Given the description of an element on the screen output the (x, y) to click on. 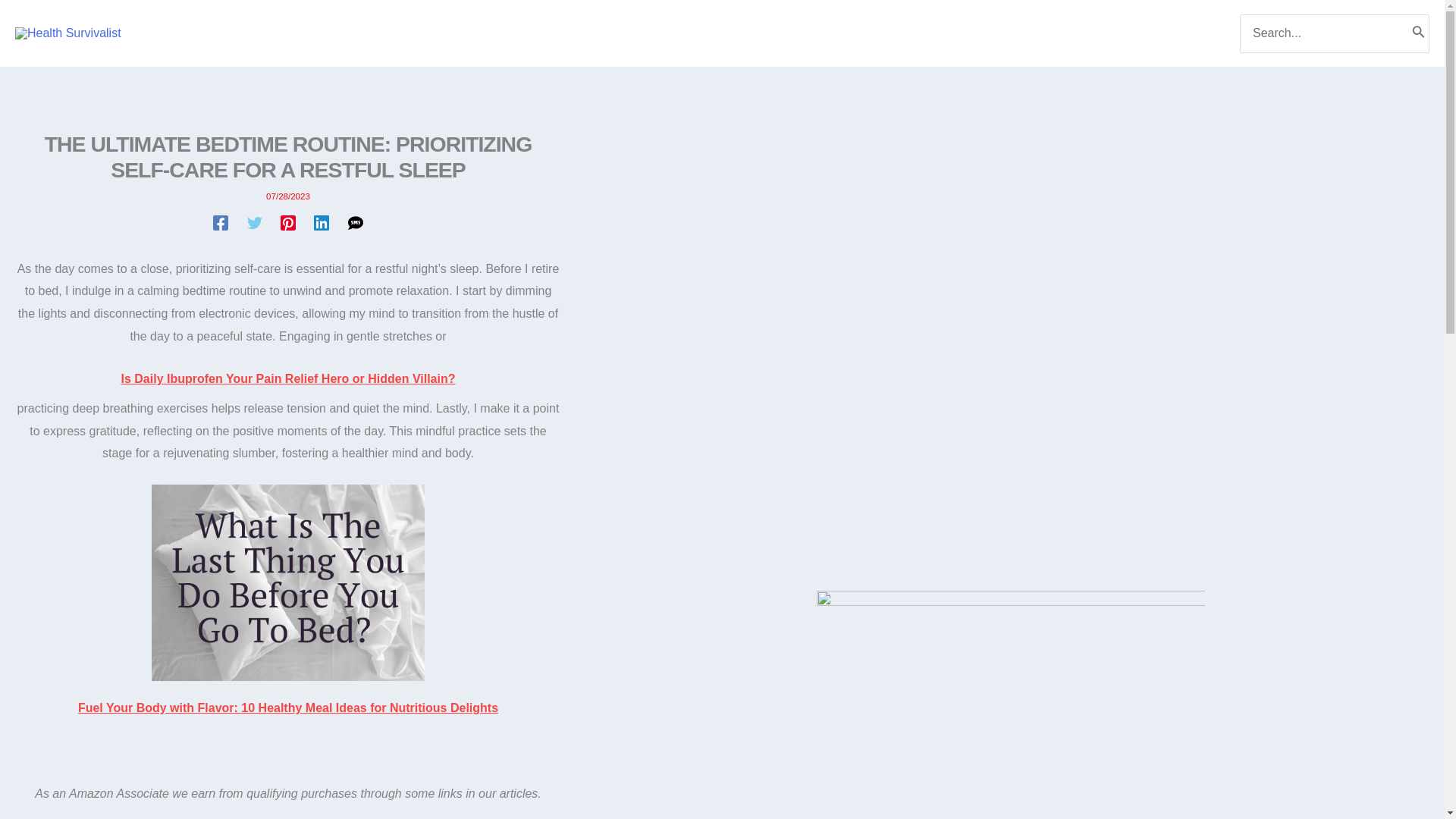
ABOUT US (674, 33)
LATEST (583, 33)
CONTACT US (784, 33)
Is Daily Ibuprofen Your Pain Relief Hero or Hidden Villain? (287, 378)
